Given the description of an element on the screen output the (x, y) to click on. 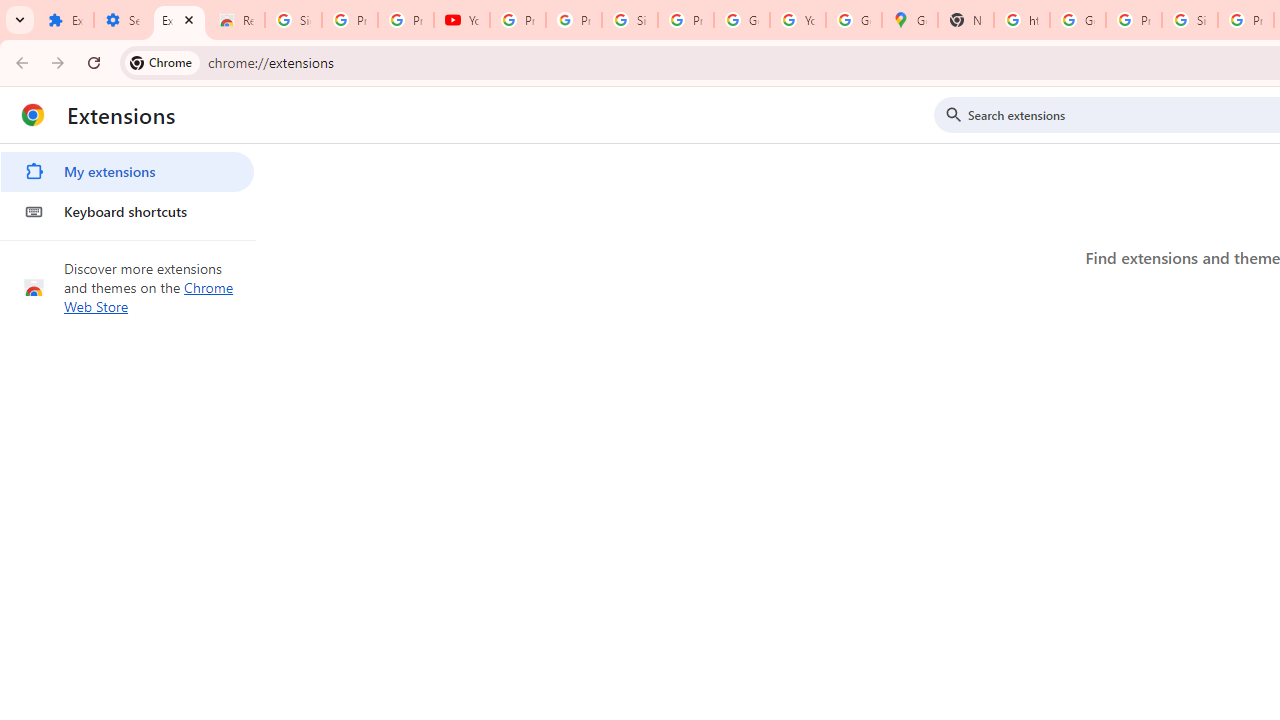
YouTube (797, 20)
